Given the description of an element on the screen output the (x, y) to click on. 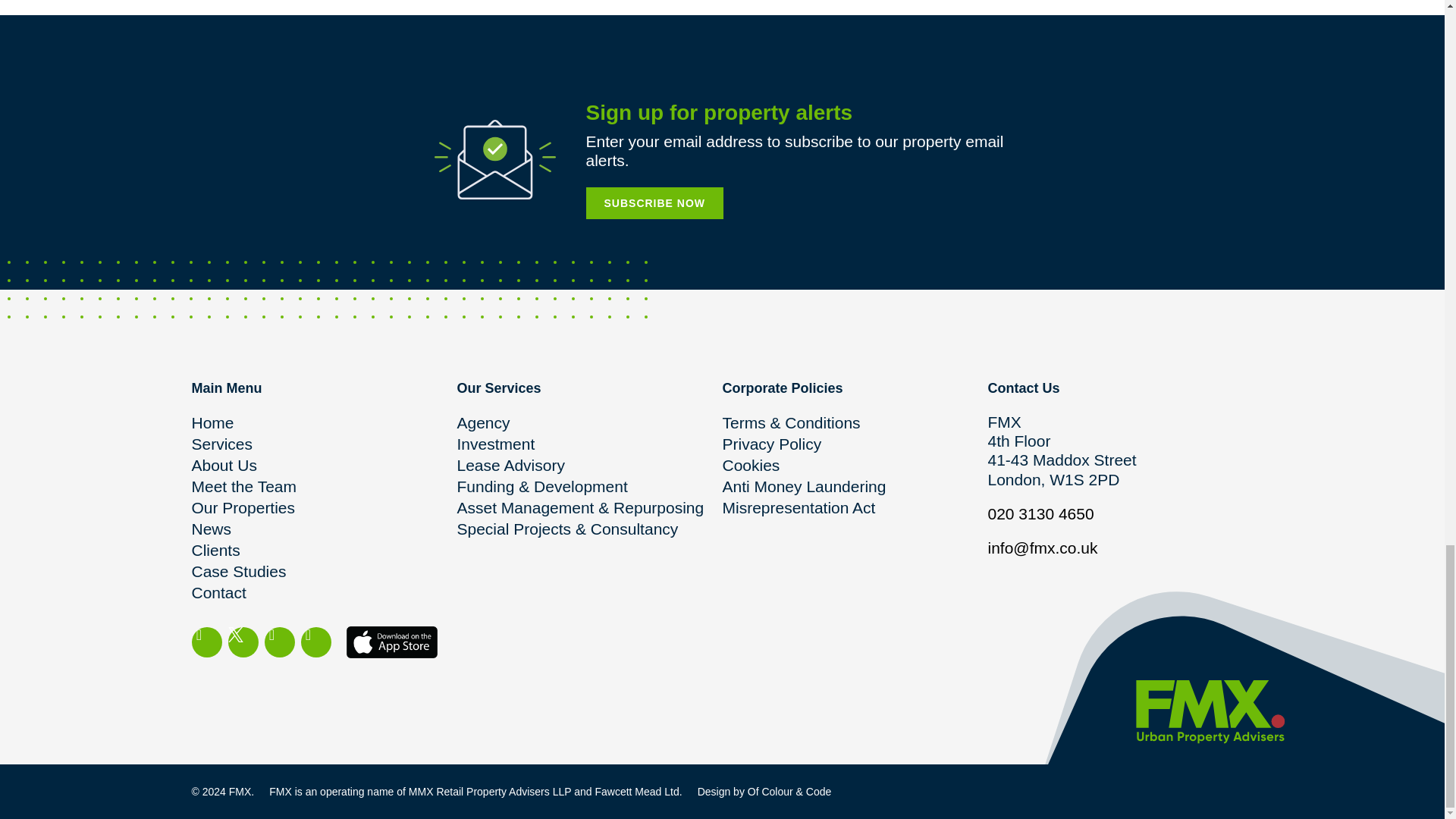
Meet the Team (323, 486)
SUBSCRIBE NOW (654, 203)
Our Properties (323, 507)
News (323, 528)
Home (323, 423)
Case Studies (323, 571)
Contact (323, 592)
Services (323, 444)
About Us (323, 465)
Clients (323, 550)
